Given the description of an element on the screen output the (x, y) to click on. 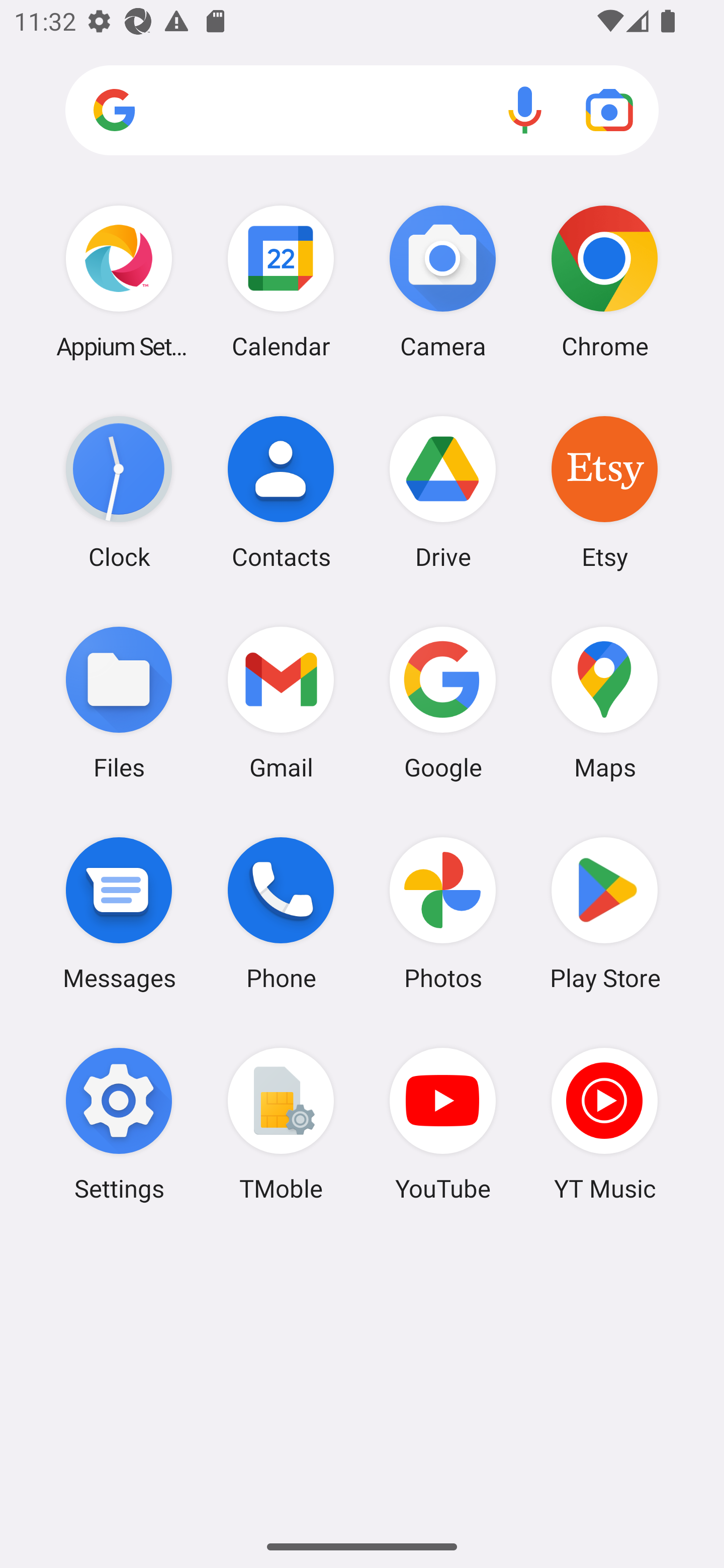
Search apps, web and more (361, 110)
Voice search (524, 109)
Google Lens (608, 109)
Appium Settings (118, 281)
Calendar (280, 281)
Camera (443, 281)
Chrome (604, 281)
Clock (118, 492)
Contacts (280, 492)
Drive (443, 492)
Etsy (604, 492)
Files (118, 702)
Gmail (280, 702)
Google (443, 702)
Maps (604, 702)
Messages (118, 913)
Phone (280, 913)
Photos (443, 913)
Play Store (604, 913)
Settings (118, 1124)
TMoble (280, 1124)
YouTube (443, 1124)
YT Music (604, 1124)
